Given the description of an element on the screen output the (x, y) to click on. 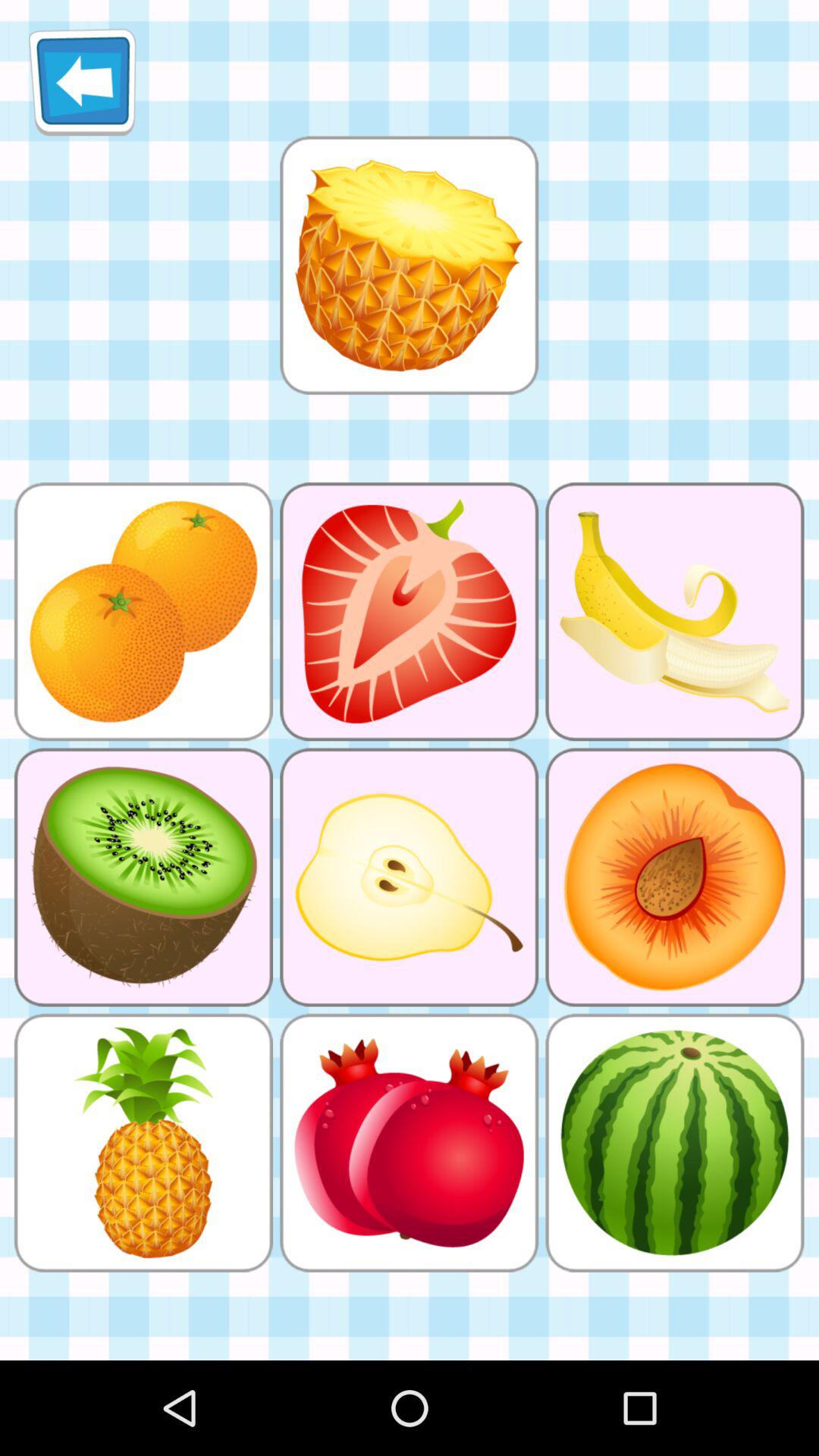
click to select (409, 265)
